Given the description of an element on the screen output the (x, y) to click on. 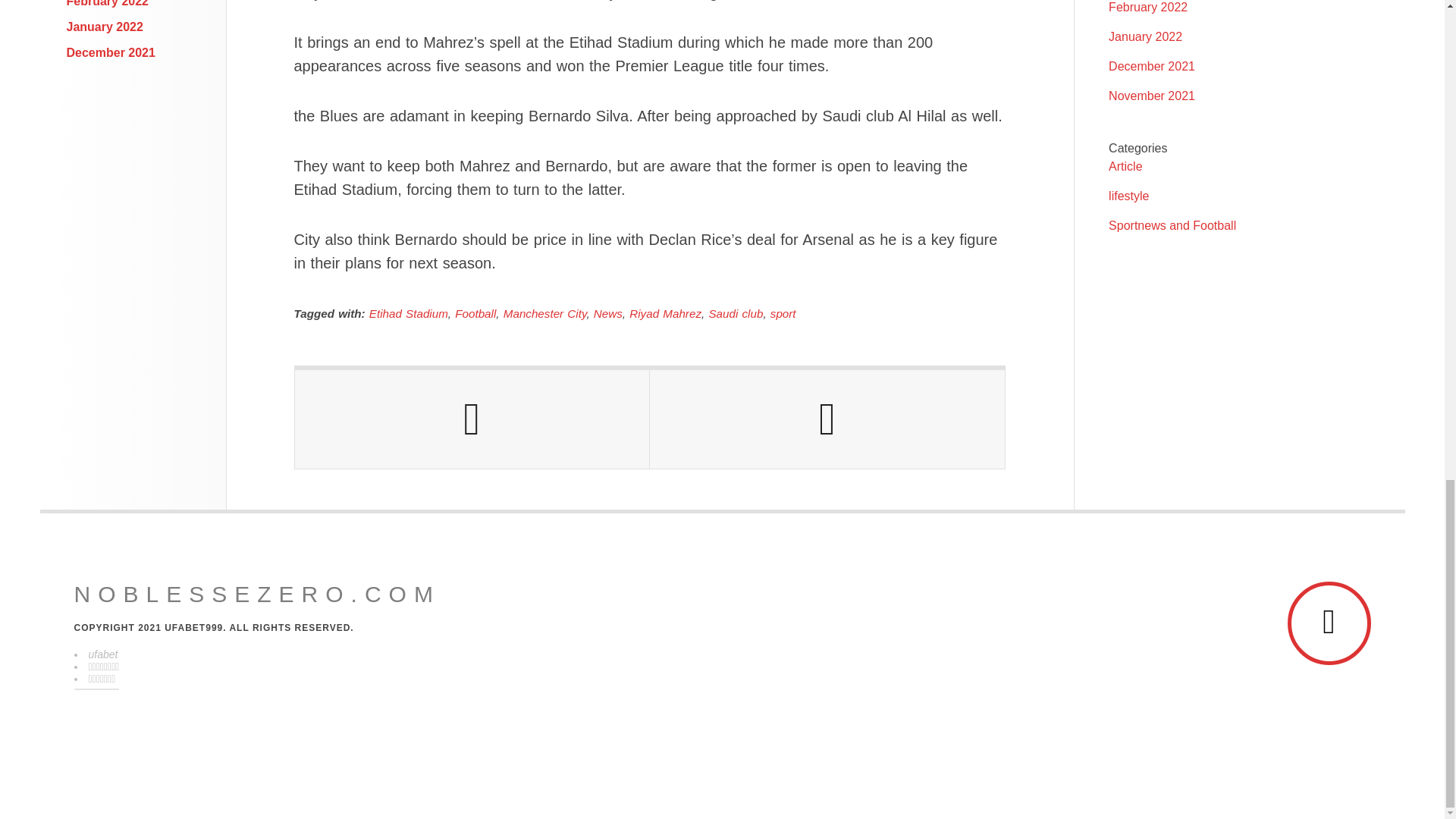
noblessezero.com (257, 594)
Football (475, 313)
Saudi club (734, 313)
Next Post (826, 419)
News (608, 313)
Riyad Mahrez (664, 313)
sport (783, 313)
Etihad Stadium (408, 313)
January 2022 (104, 26)
February 2022 (107, 3)
Manchester City (544, 313)
December 2021 (110, 51)
Previous Post (471, 419)
